Given the description of an element on the screen output the (x, y) to click on. 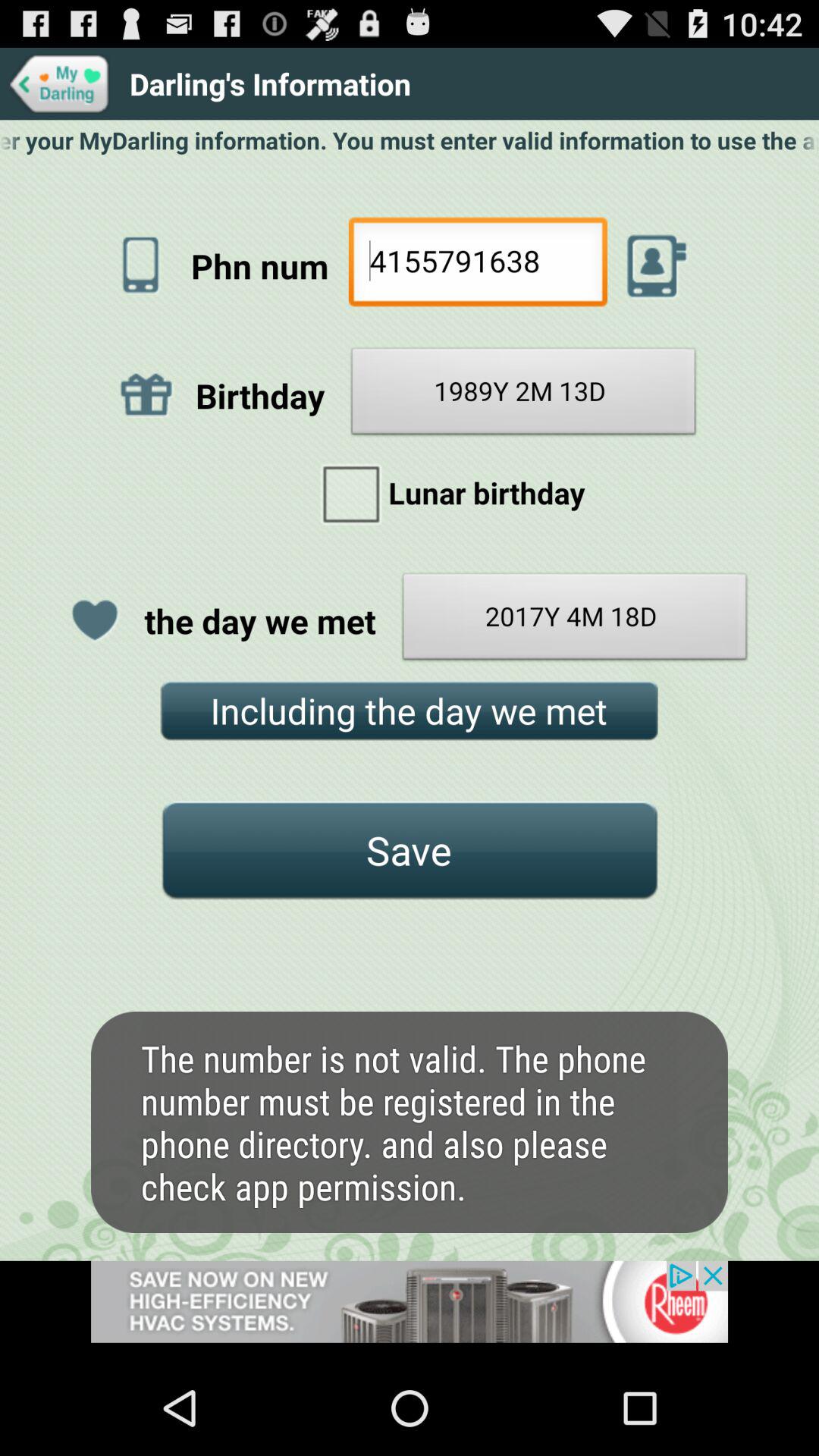
go to advertisement (409, 1310)
